Given the description of an element on the screen output the (x, y) to click on. 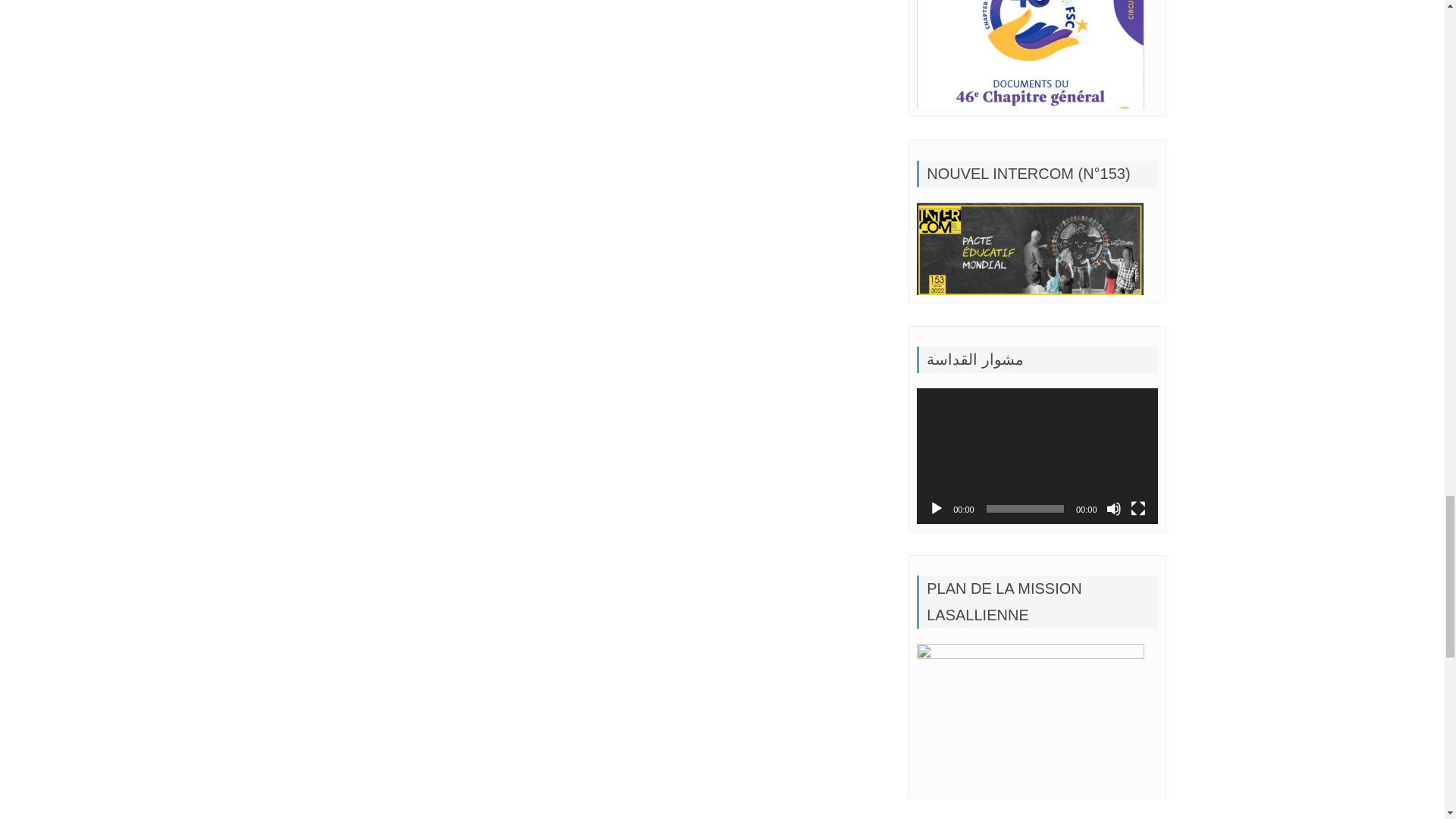
Vocations lasalliennes 5 (1030, 248)
Muet (1113, 508)
Lecture (935, 508)
